Given the description of an element on the screen output the (x, y) to click on. 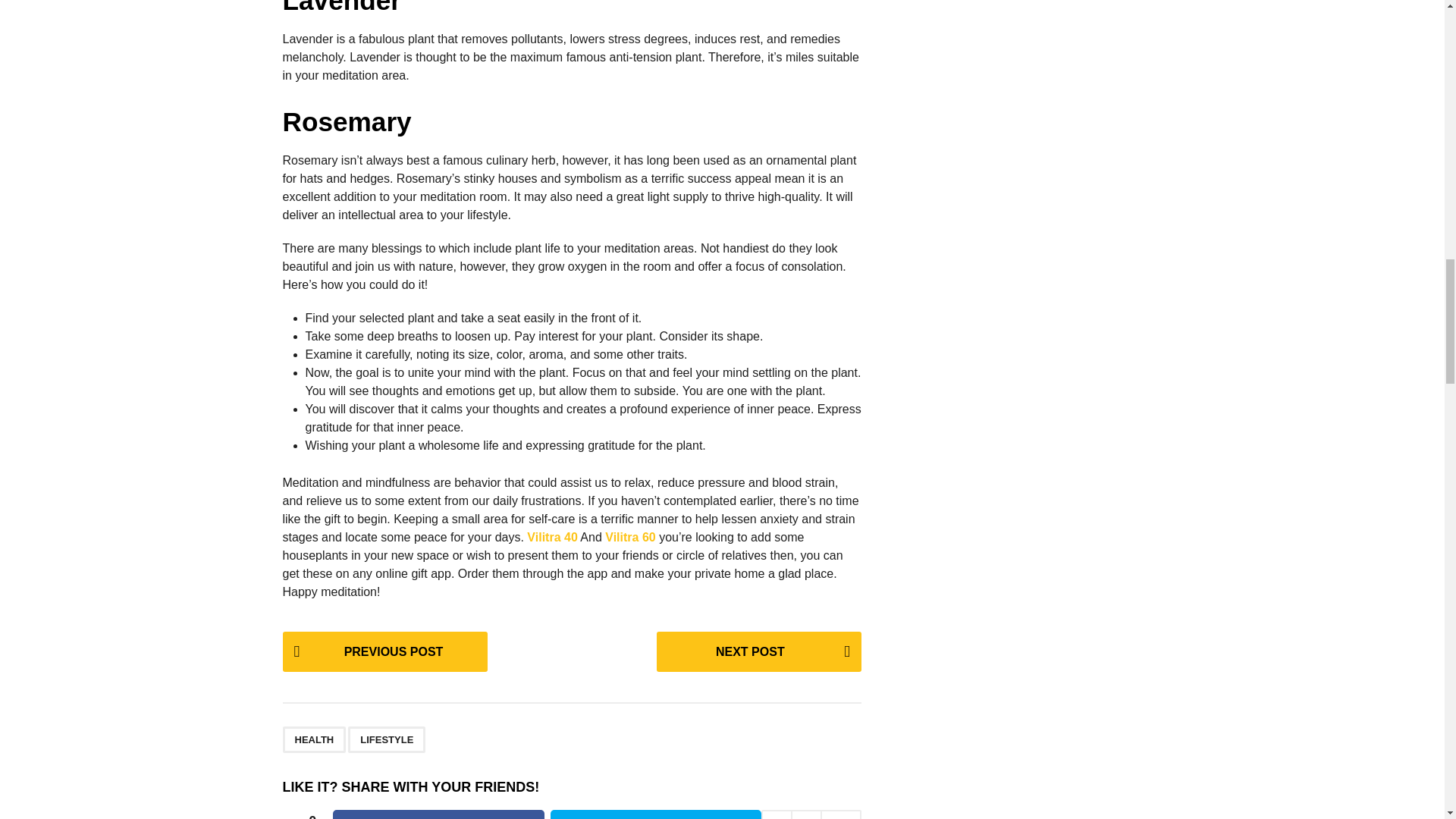
Share on Facebook (438, 814)
PREVIOUS POST (384, 651)
Share on Twitter (655, 814)
Vilitra 40 (551, 536)
Vilitra 60 (630, 536)
HEALTH (314, 739)
NEXT POST (758, 651)
